Given the description of an element on the screen output the (x, y) to click on. 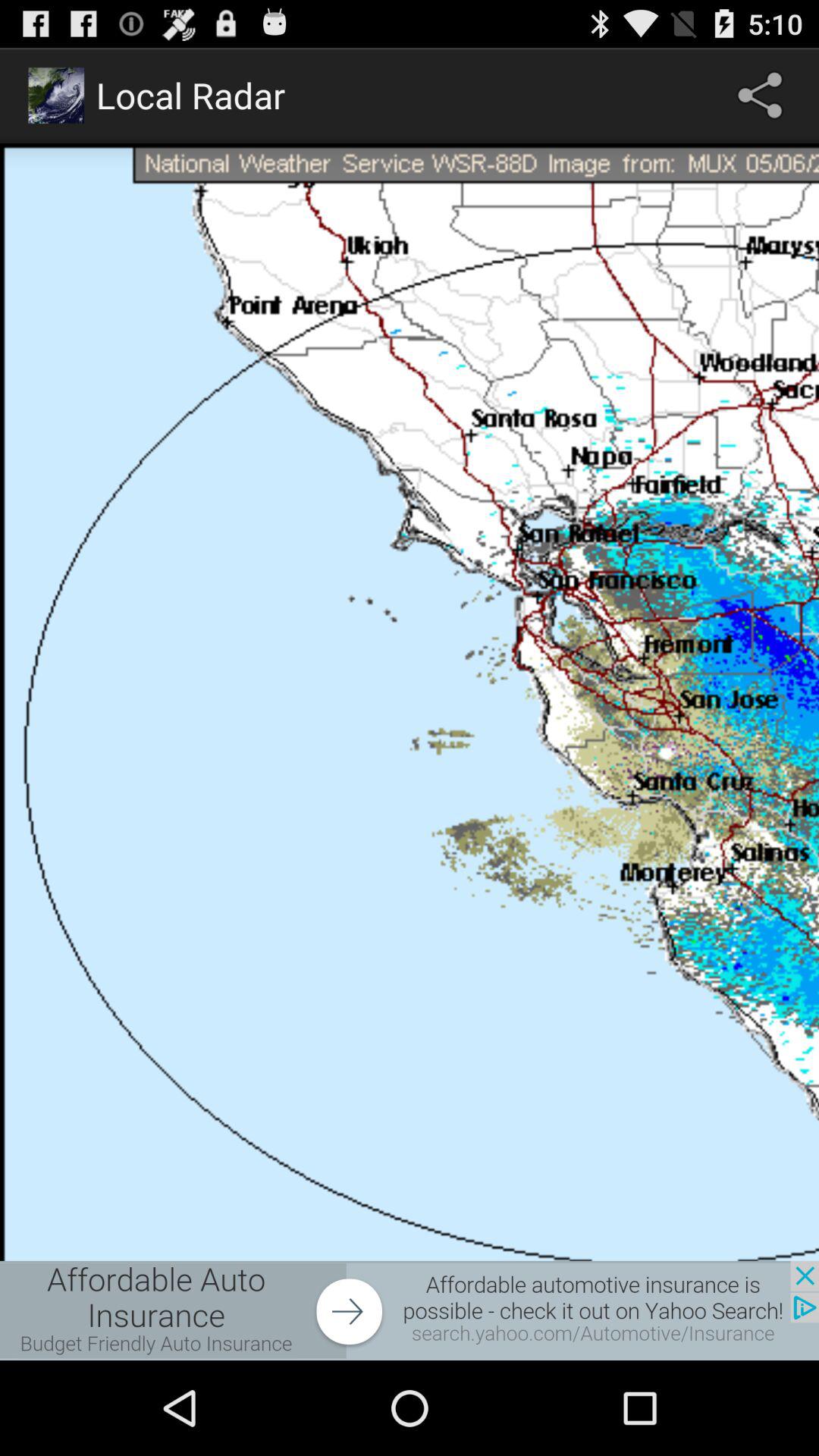
app page (409, 701)
